Given the description of an element on the screen output the (x, y) to click on. 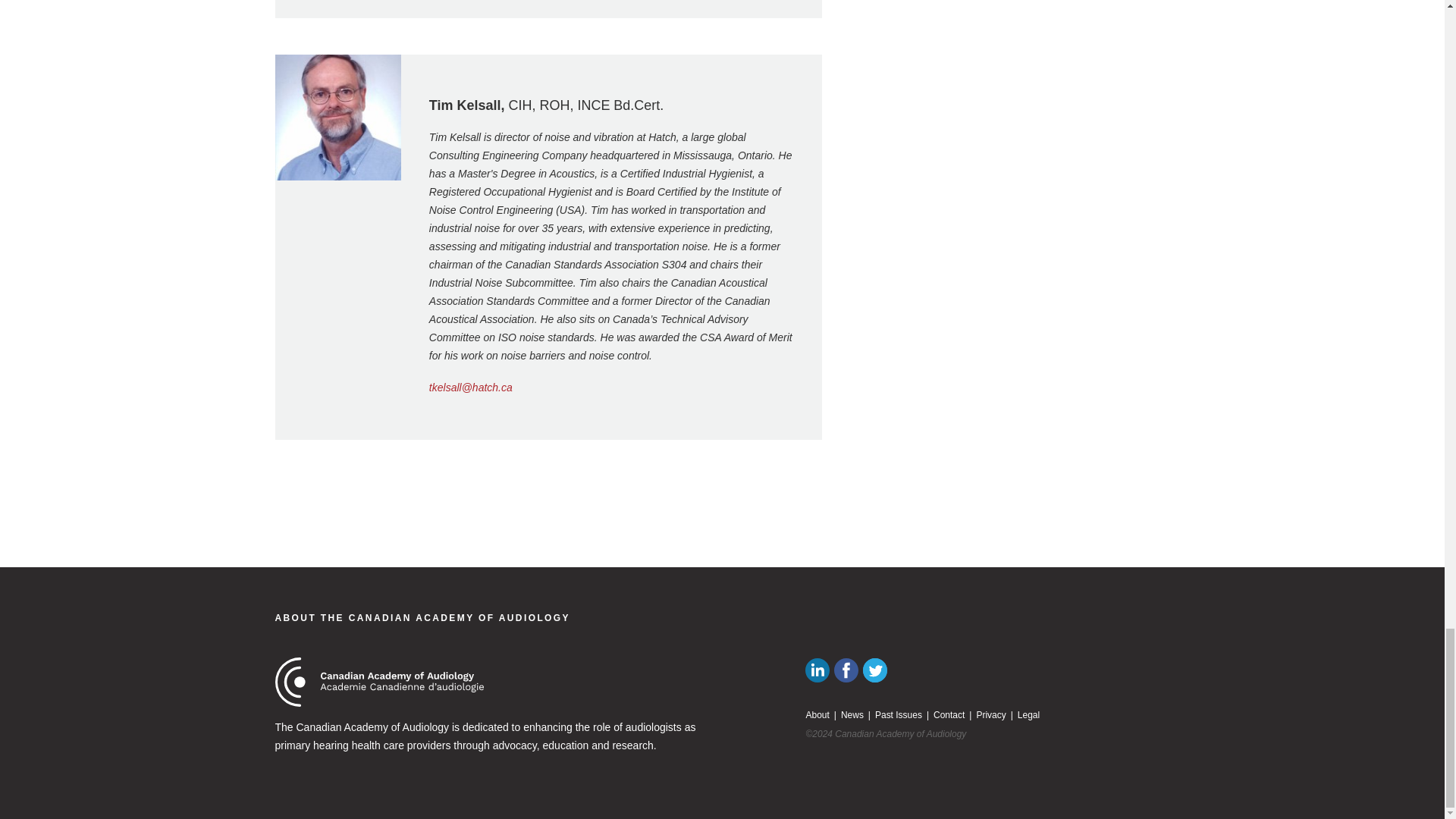
Like Canadian Audiologists on Facebook (846, 670)
The Canadian Academy of Audiology (379, 681)
Follow Canadian Audiologists on Twitter (874, 670)
Canadian Audiologists on LinkedIn (817, 670)
The Canadian Academy of Audiology (422, 617)
